Given the description of an element on the screen output the (x, y) to click on. 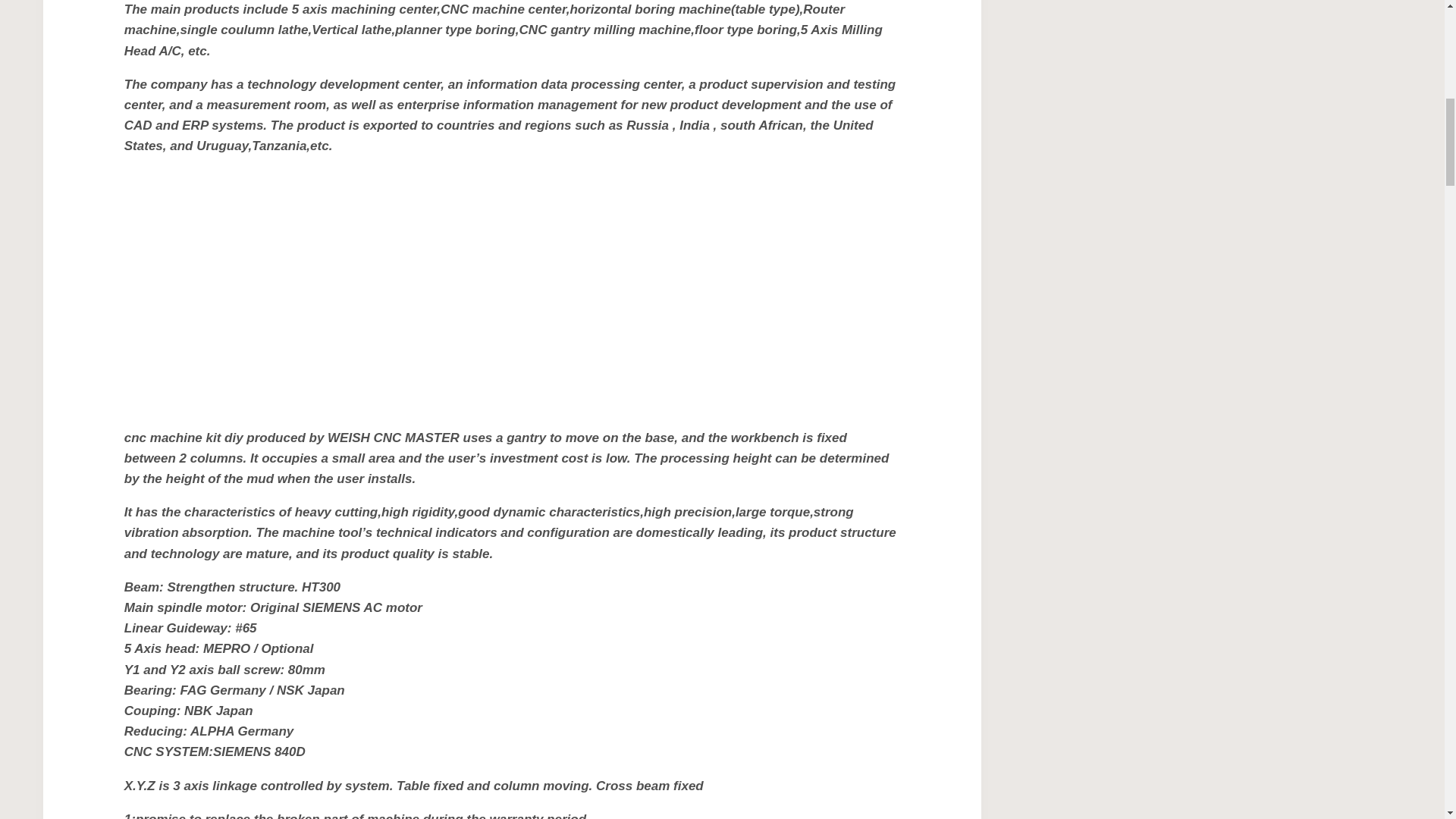
YouTube video player (335, 288)
